Given the description of an element on the screen output the (x, y) to click on. 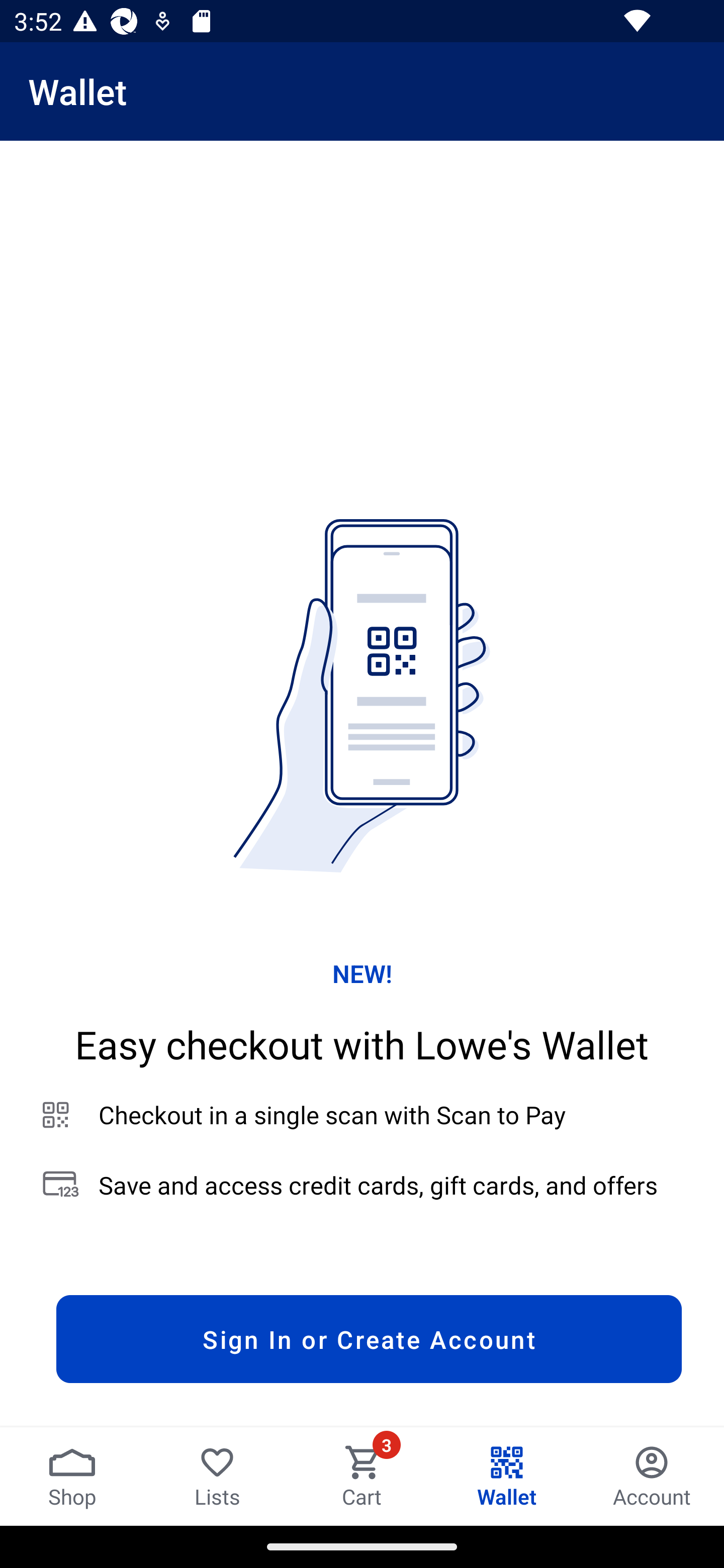
Sign In or Create Account (369, 1338)
Shop (72, 1475)
Lists (216, 1475)
Cart Cart 3 (361, 1475)
Account (651, 1475)
